Given the description of an element on the screen output the (x, y) to click on. 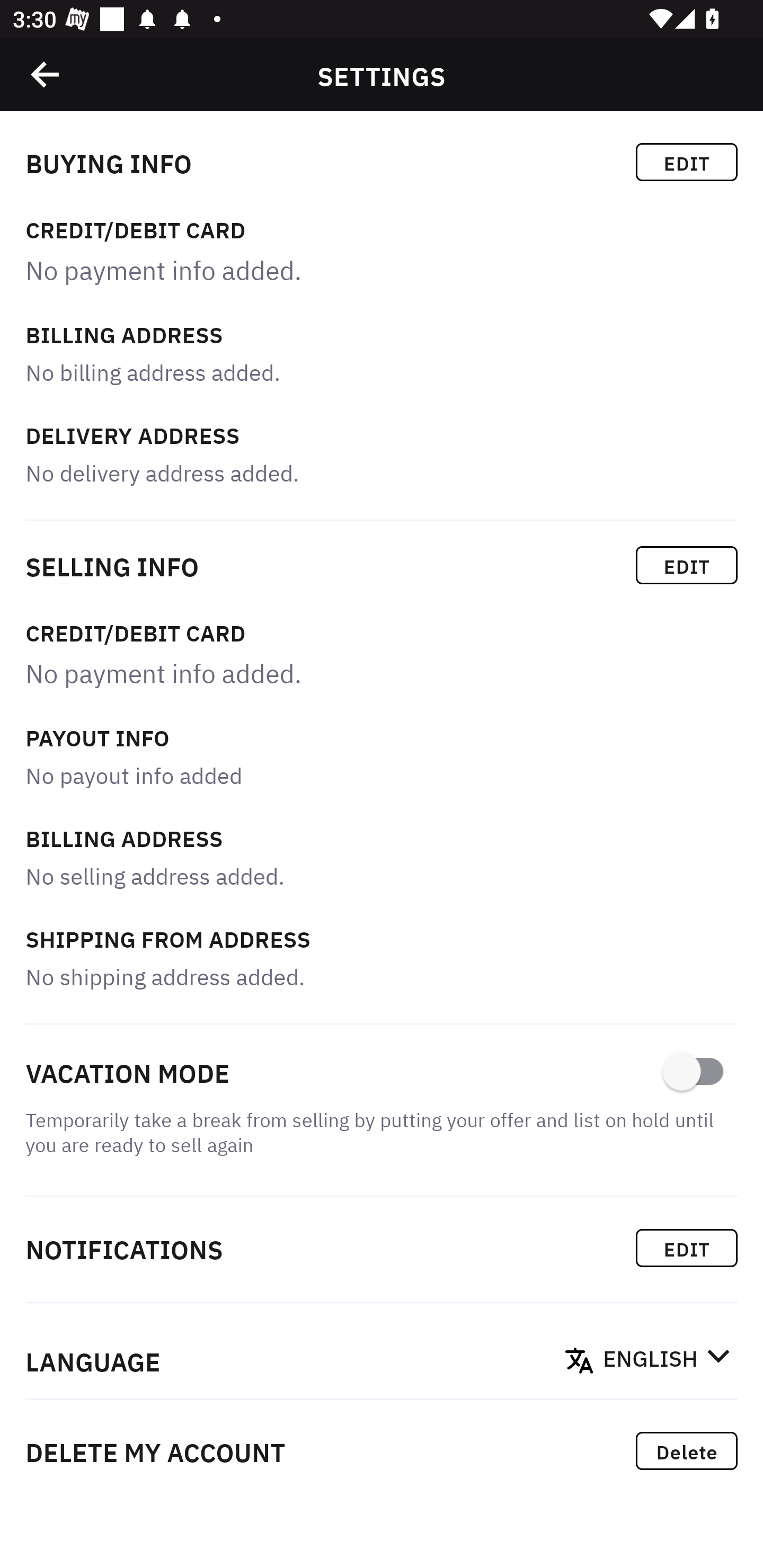
 (46, 74)
EDIT (686, 161)
EDIT (686, 564)
EDIT (686, 1247)
ENGLISH  (666, 1359)
Delete (686, 1450)
